Given the description of an element on the screen output the (x, y) to click on. 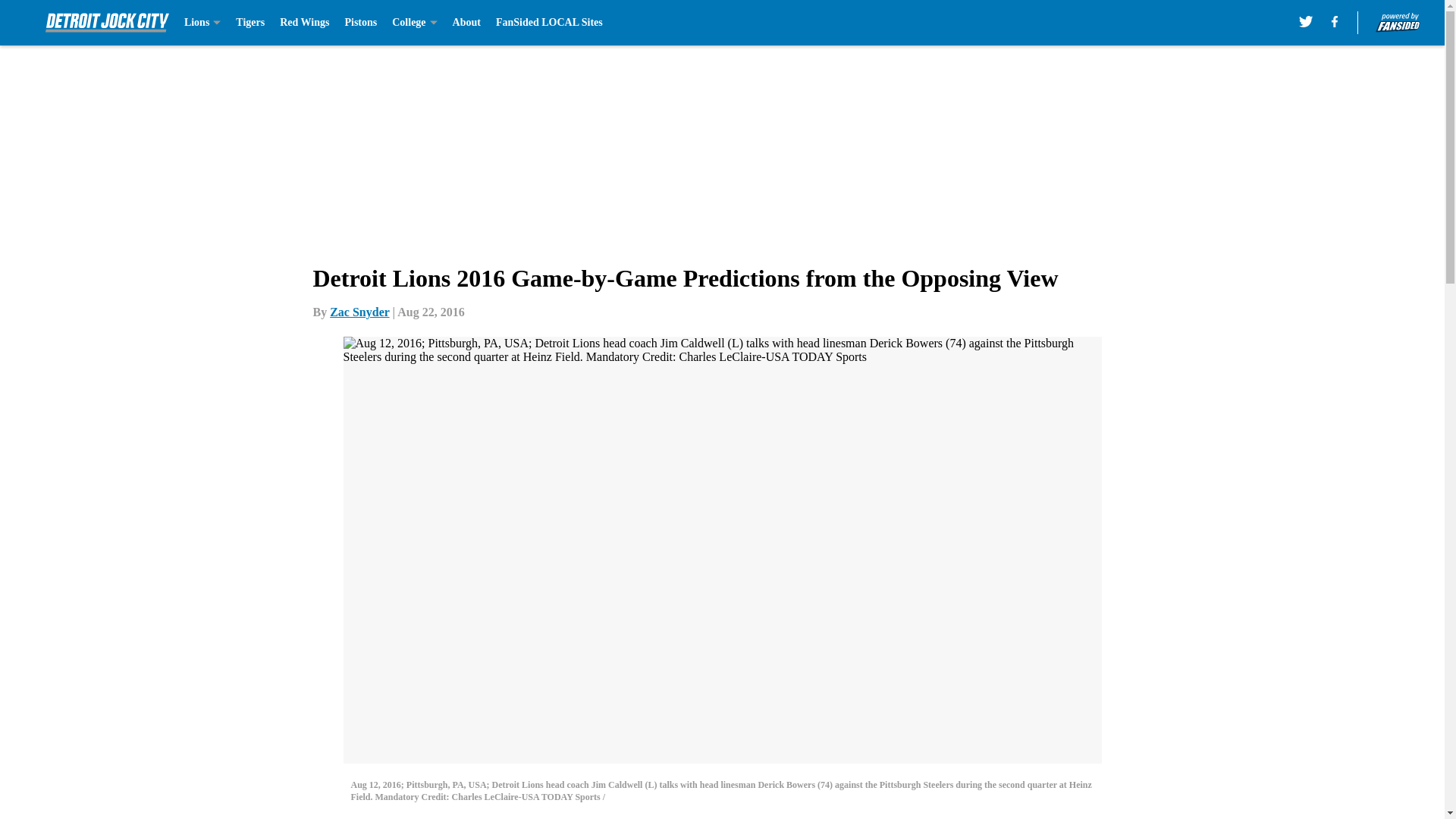
About (466, 22)
Tigers (249, 22)
Red Wings (304, 22)
Zac Snyder (359, 311)
FanSided LOCAL Sites (549, 22)
Pistons (360, 22)
